Given the description of an element on the screen output the (x, y) to click on. 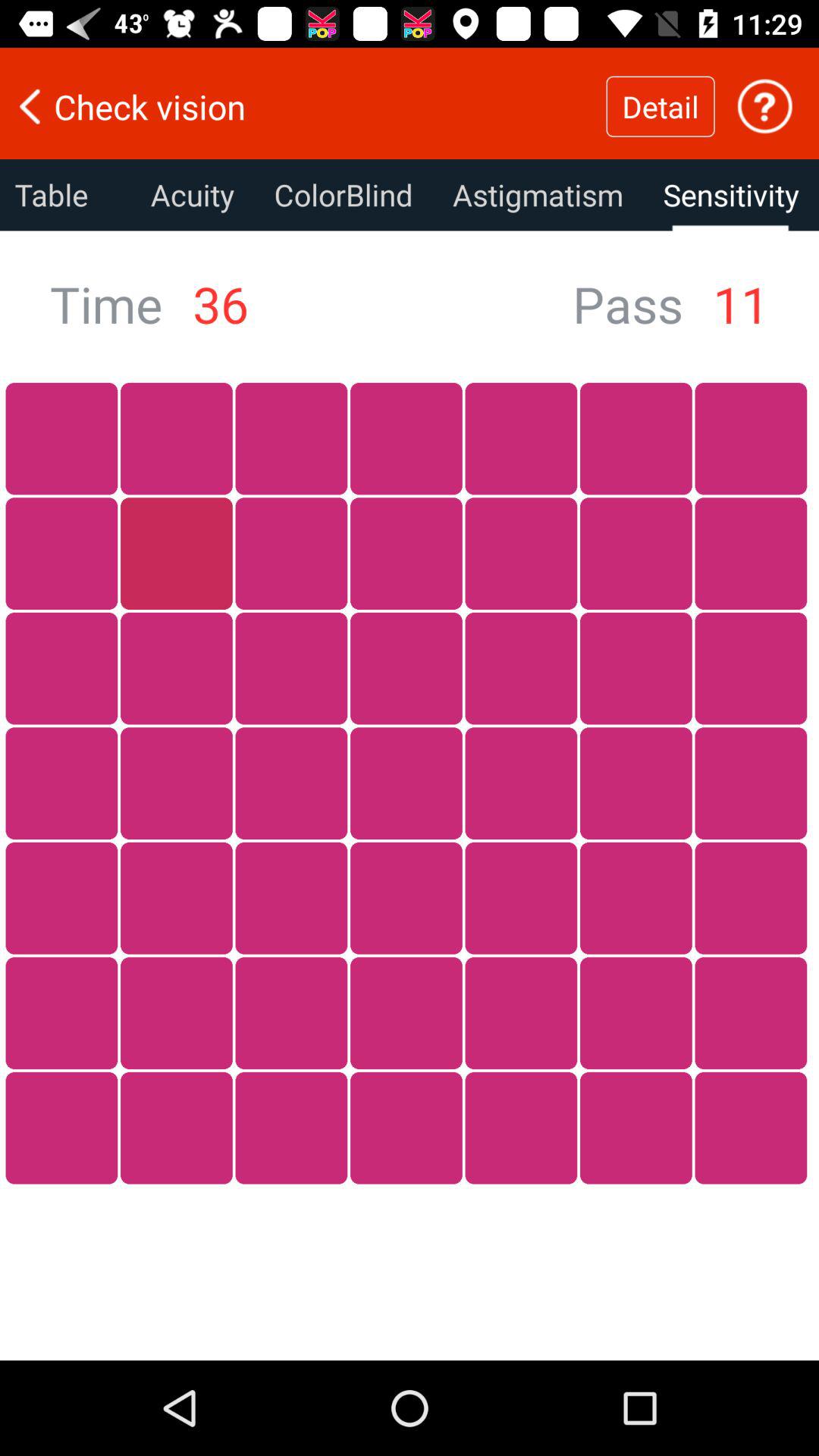
tap colorblind icon (343, 194)
